Given the description of an element on the screen output the (x, y) to click on. 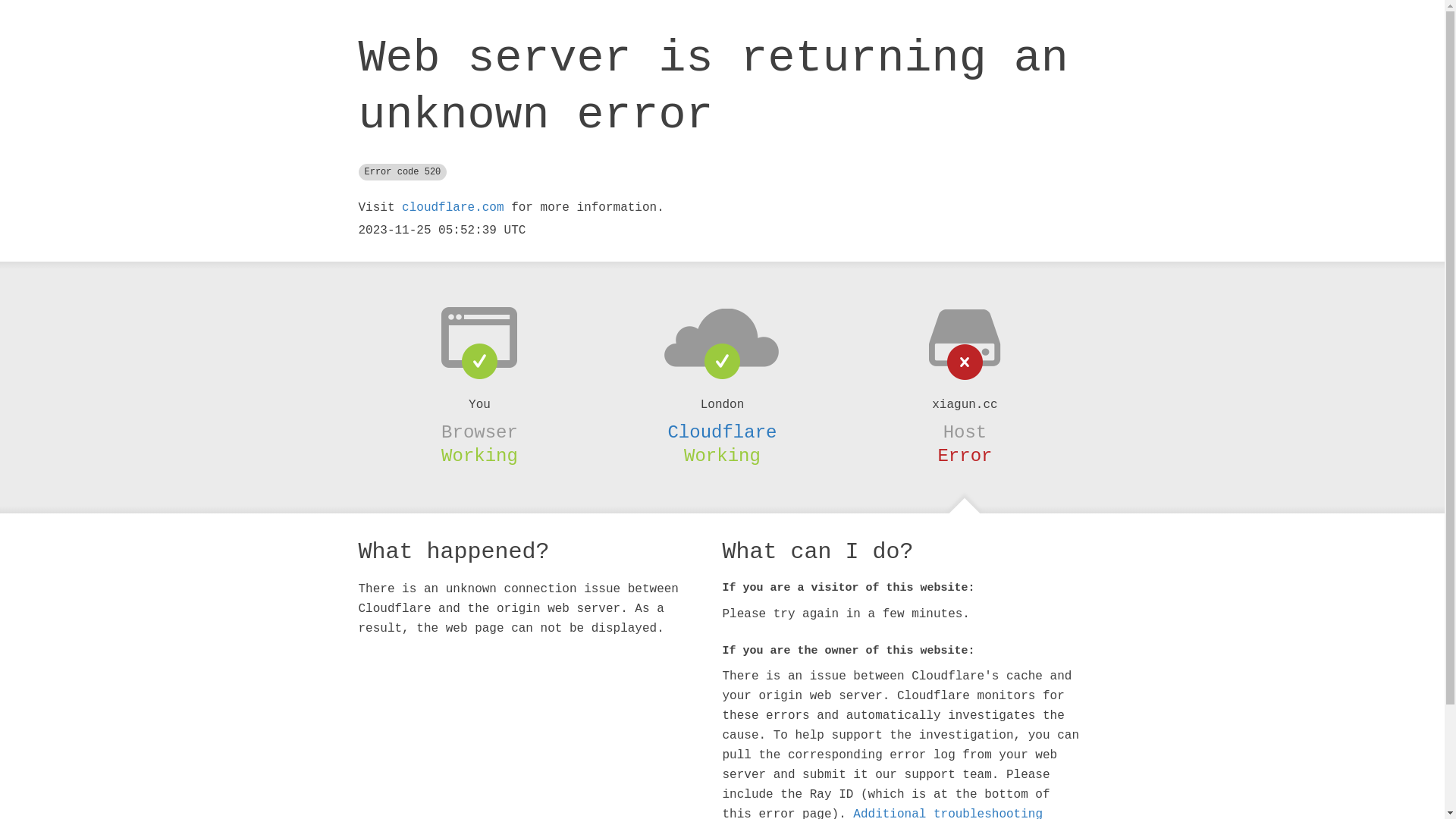
cloudflare.com Element type: text (452, 207)
Cloudflare Element type: text (721, 432)
